Given the description of an element on the screen output the (x, y) to click on. 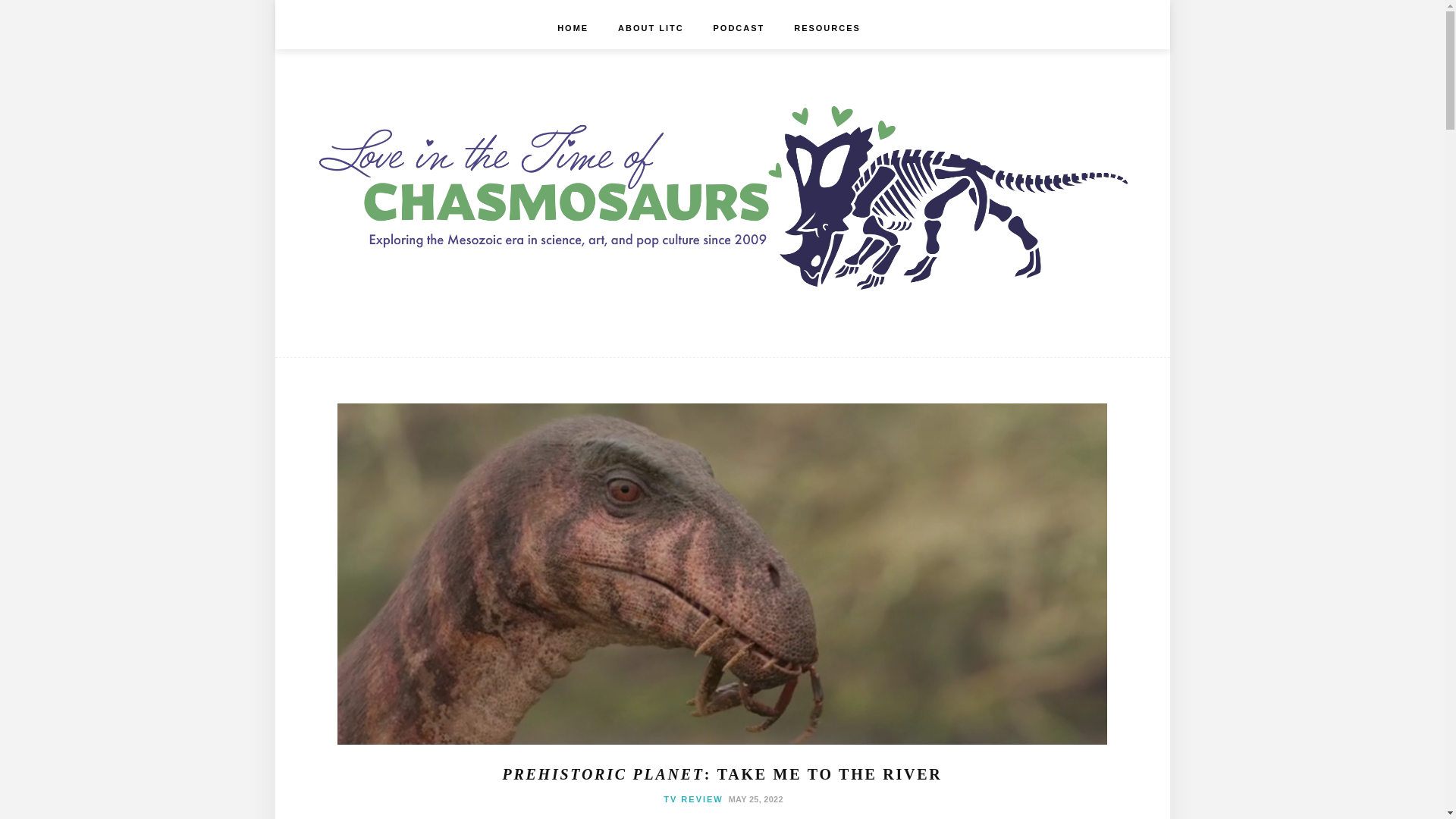
ABOUT LITC (650, 28)
HOME (572, 28)
PODCAST (739, 28)
RESOURCES (826, 28)
TV REVIEW (693, 798)
